Given the description of an element on the screen output the (x, y) to click on. 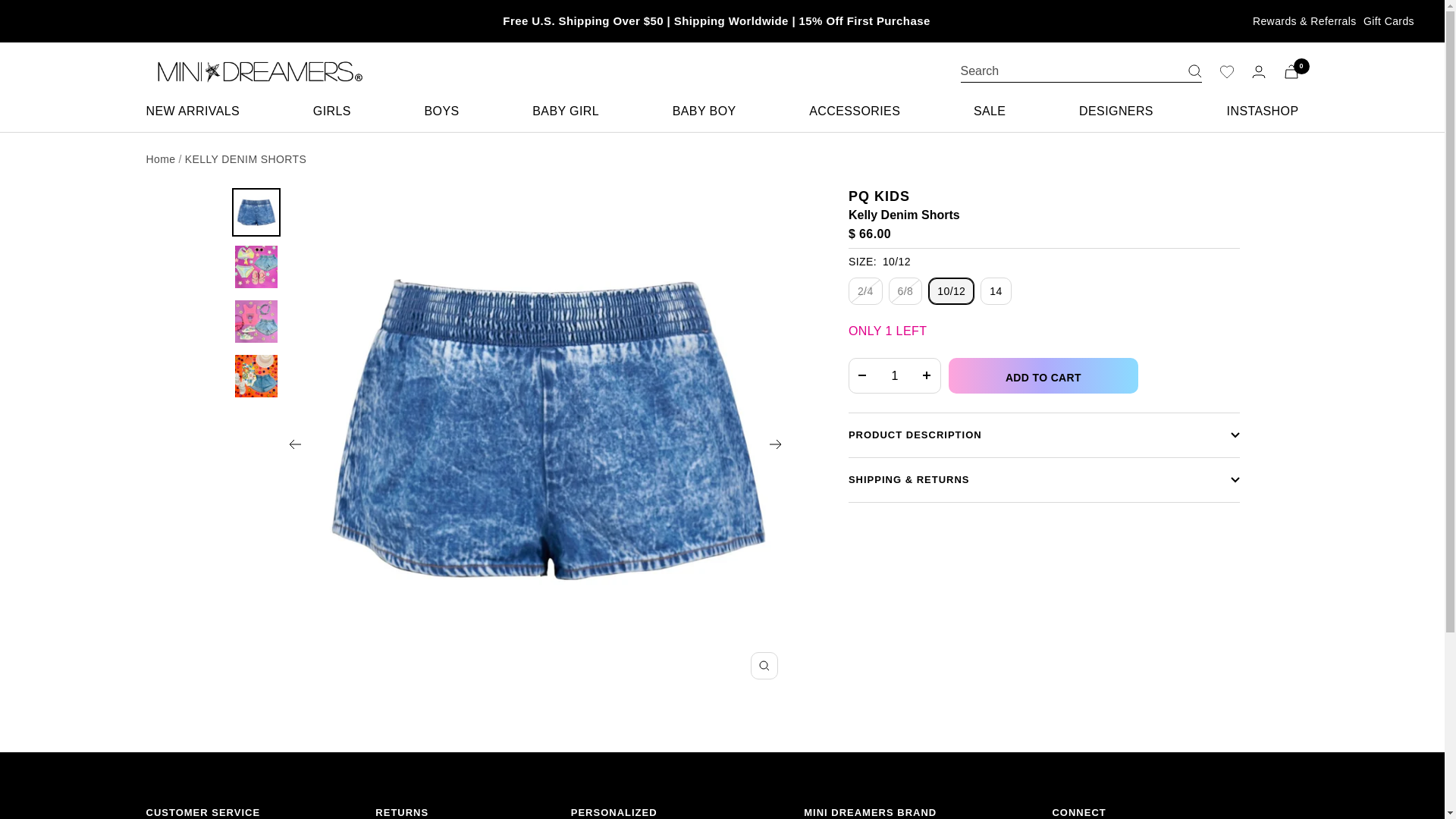
ACCESSORIES (854, 111)
1 (895, 375)
Gift Cards (1387, 21)
DESIGNERS (1115, 111)
Increase quantity (927, 375)
BABY BOY (704, 111)
ADD TO CART (1043, 375)
PQ KIDS (879, 196)
Decrease quantity (862, 375)
BOYS (442, 111)
